Given the description of an element on the screen output the (x, y) to click on. 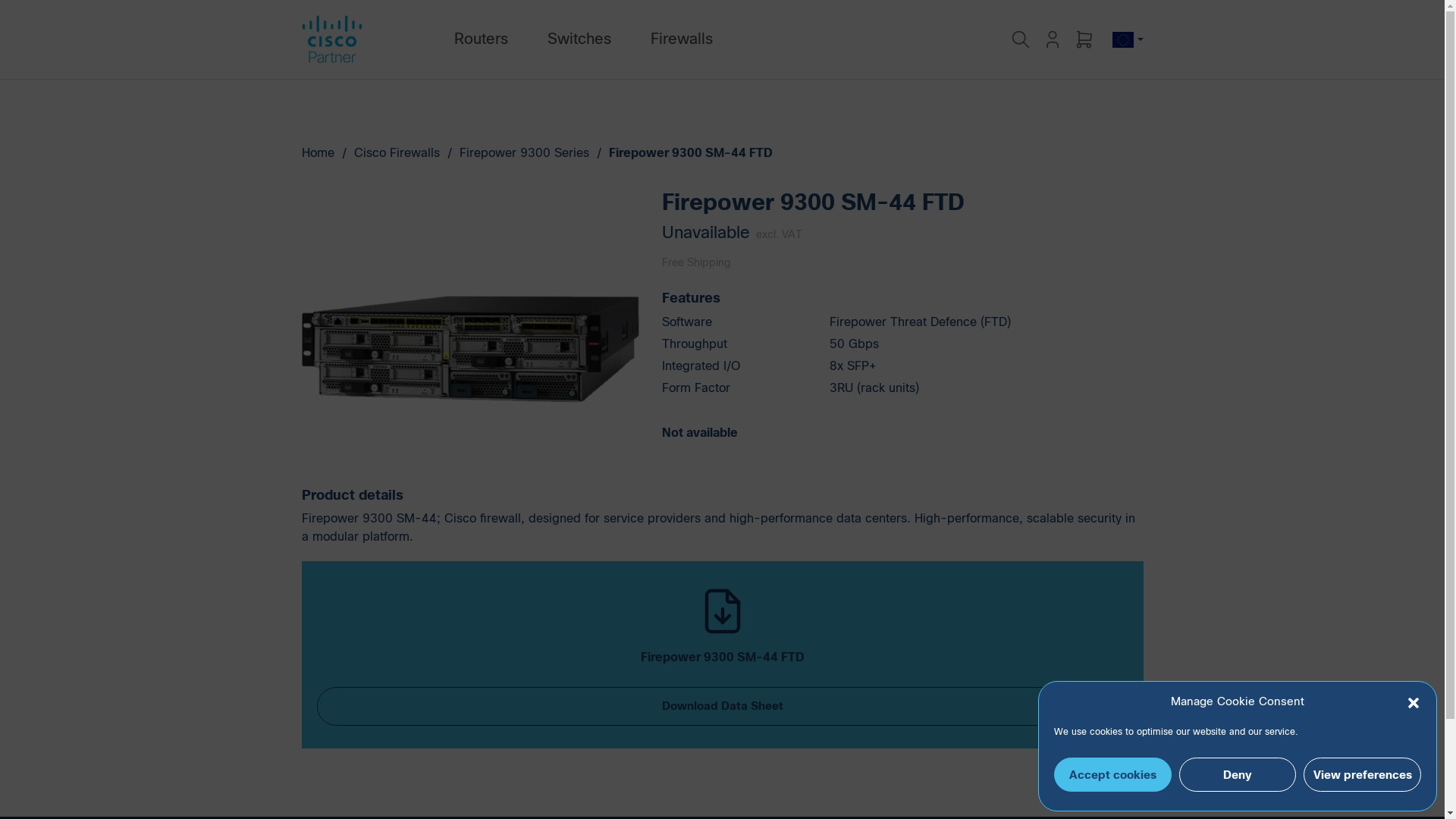
Login Element type: hover (1052, 39)
Download Data Sheet Element type: text (722, 706)
Deny Element type: text (1237, 774)
Search products Element type: hover (1023, 39)
Cisco Firewalls Element type: text (396, 152)
Home Element type: text (317, 152)
Firewalls Element type: text (681, 38)
Accept cookies Element type: text (1112, 774)
Switches Element type: text (578, 38)
Firepower 9300 Series Element type: text (524, 152)
Routers Element type: text (480, 38)
Cisco Firepower 9300 Element type: hover (470, 348)
View your shopping cart Element type: hover (1084, 39)
View preferences Element type: text (1362, 774)
